Given the description of an element on the screen output the (x, y) to click on. 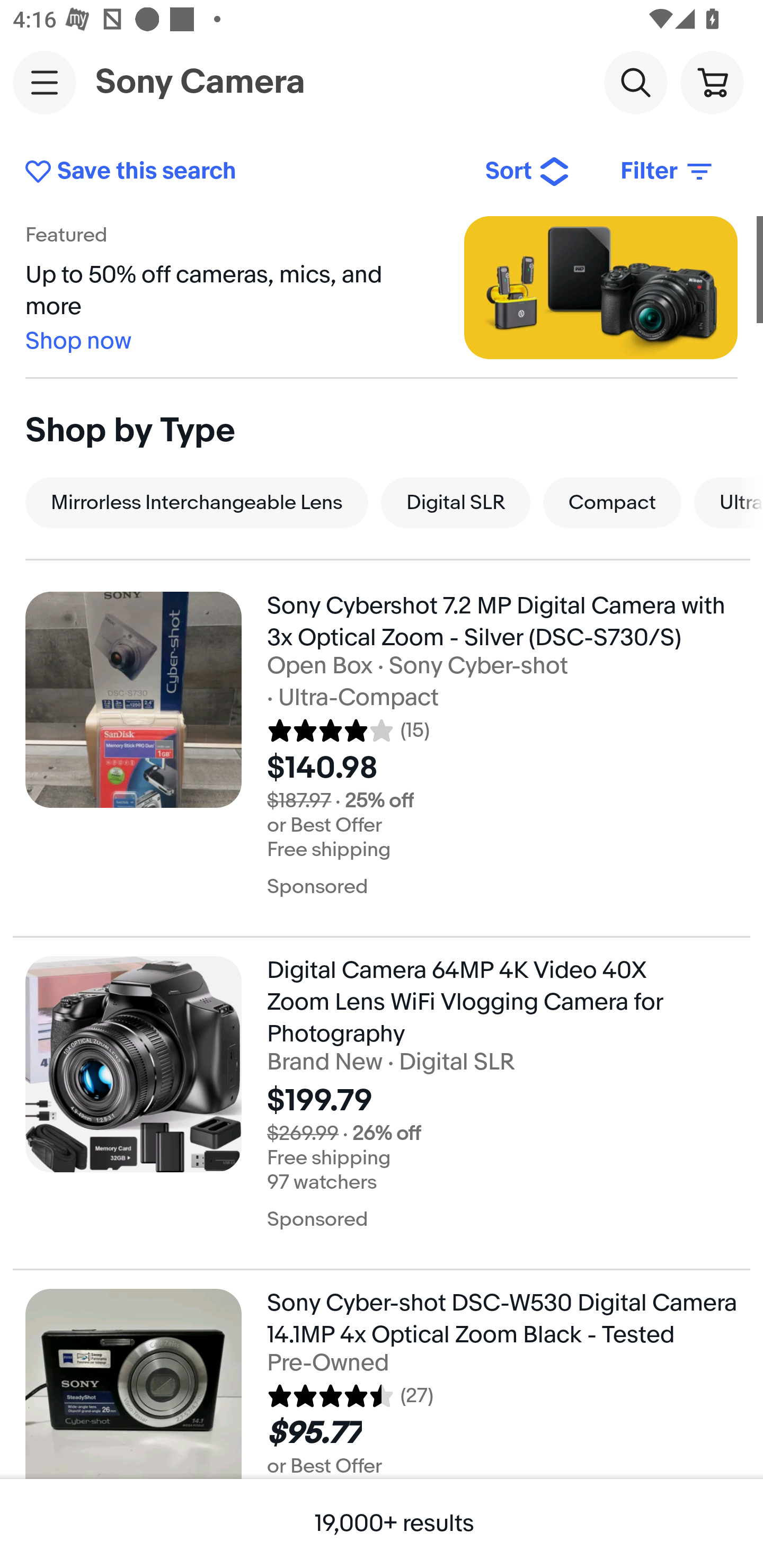
Main navigation, open (44, 82)
Search (635, 81)
Cart button shopping cart (711, 81)
Save this search (241, 171)
Sort (527, 171)
Filter (667, 171)
Digital SLR Digital SLR, Type (455, 502)
Compact Compact, Type (612, 502)
